Given the description of an element on the screen output the (x, y) to click on. 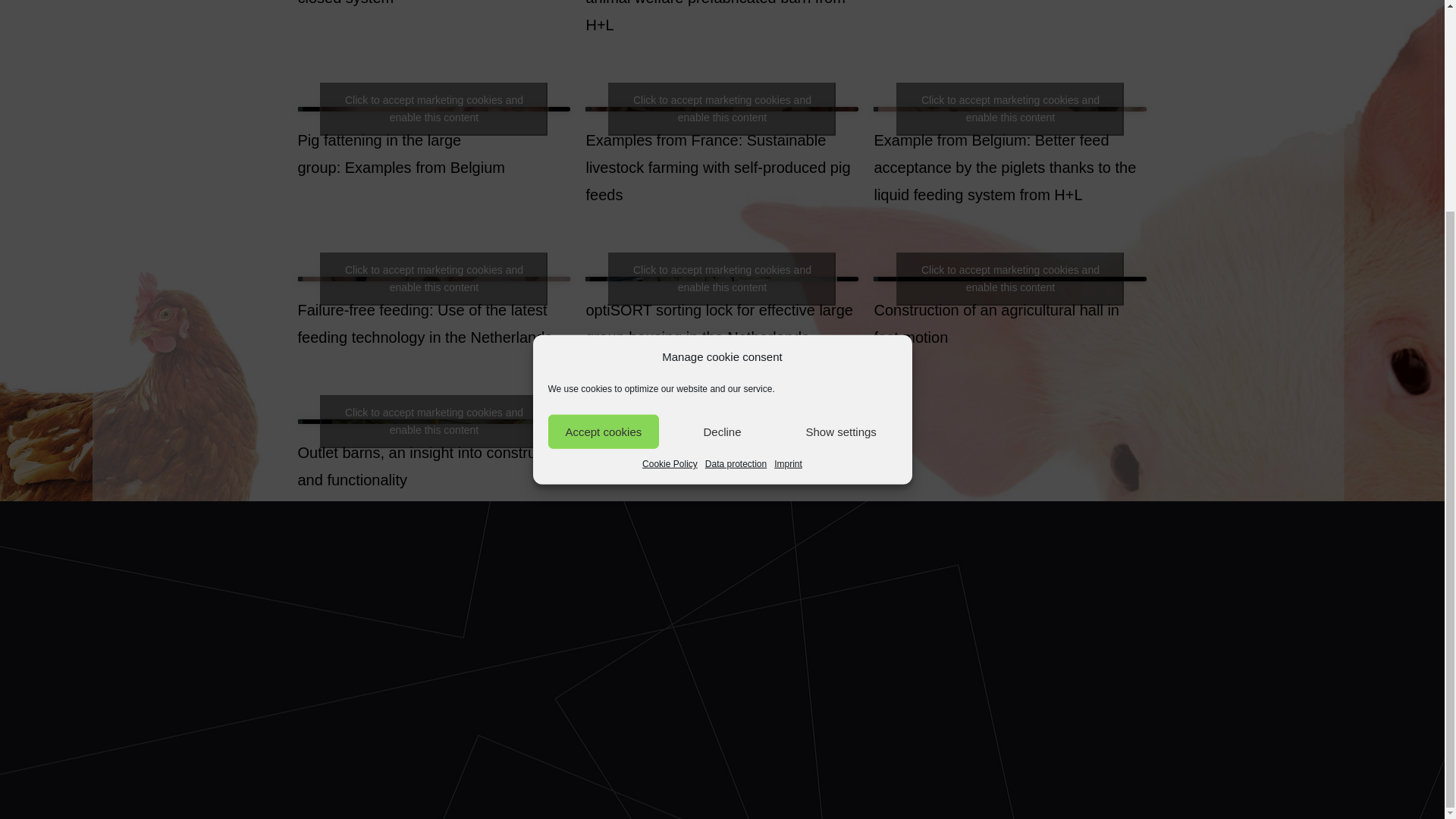
Show settings (841, 156)
Imprint (788, 189)
Decline (721, 156)
Cookie Policy (669, 189)
Data protection (735, 189)
Accept cookies (603, 156)
